Given the description of an element on the screen output the (x, y) to click on. 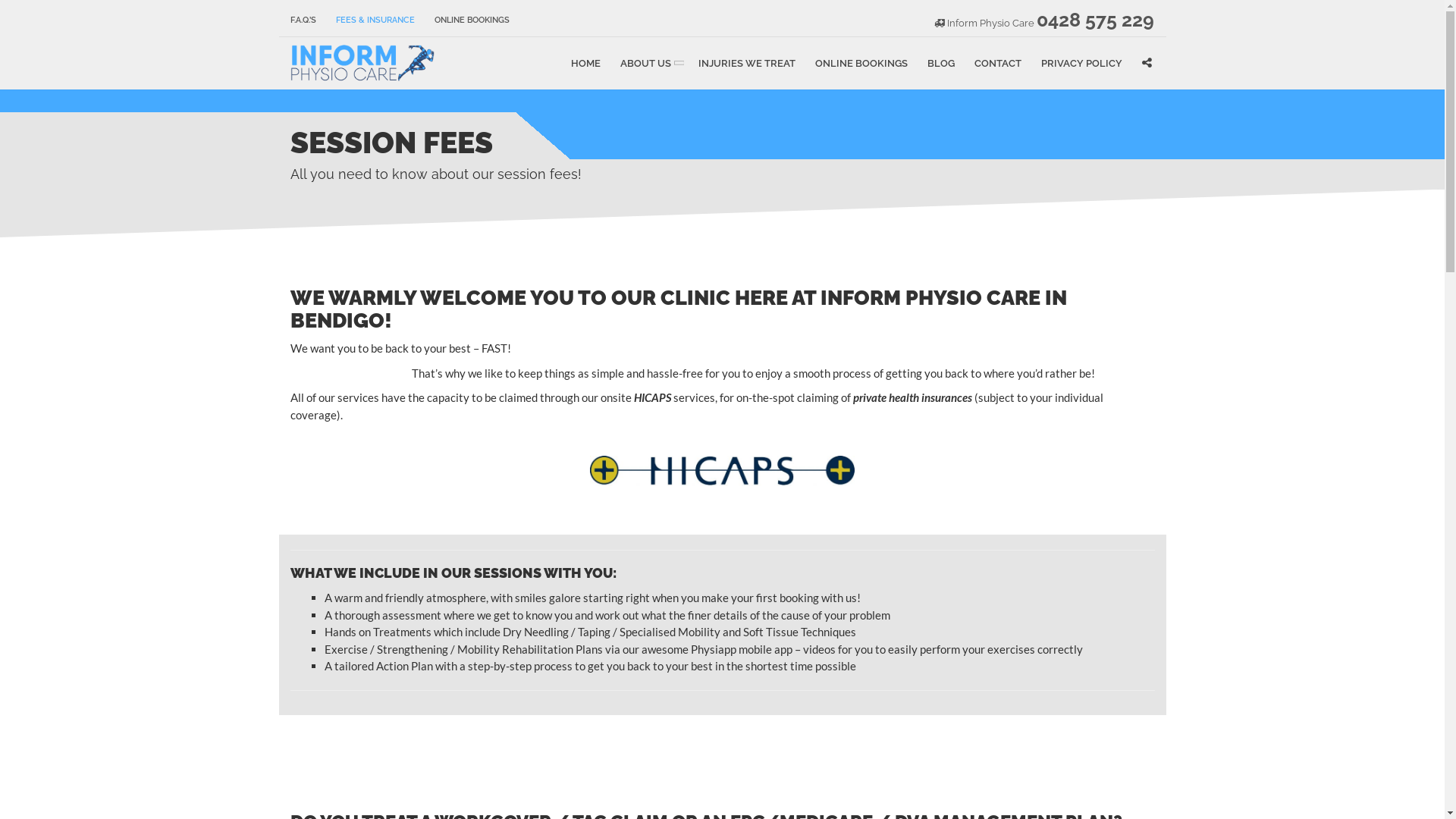
ONLINE BOOKINGS Element type: text (466, 19)
FEES & INSURANCE Element type: text (375, 19)
BLOG Element type: text (940, 62)
CONTACT Element type: text (997, 62)
PRIVACY POLICY Element type: text (1081, 62)
ONLINE BOOKINGS Element type: text (861, 62)
HOME Element type: text (585, 62)
ABOUT US Element type: text (648, 62)
INJURIES WE TREAT Element type: text (746, 62)
